Given the description of an element on the screen output the (x, y) to click on. 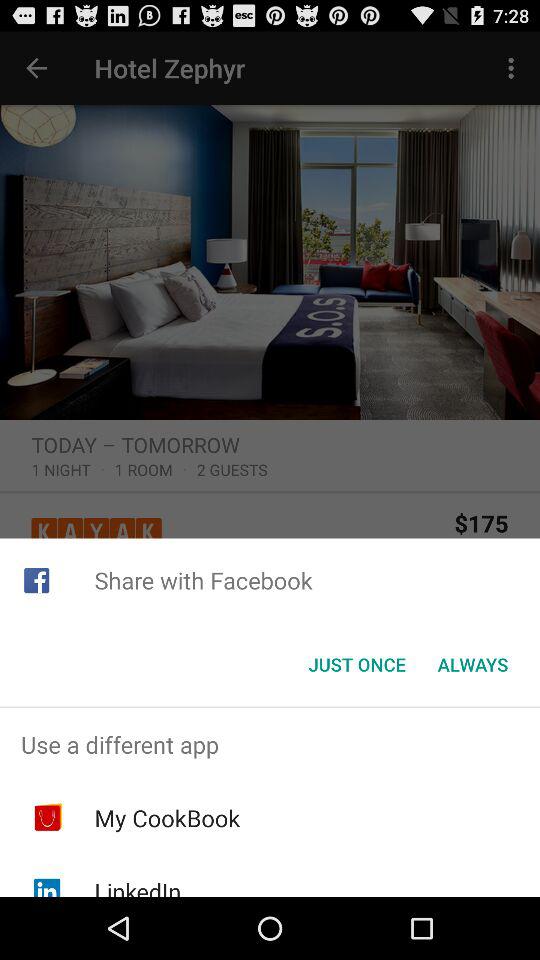
open icon to the right of just once icon (472, 664)
